Given the description of an element on the screen output the (x, y) to click on. 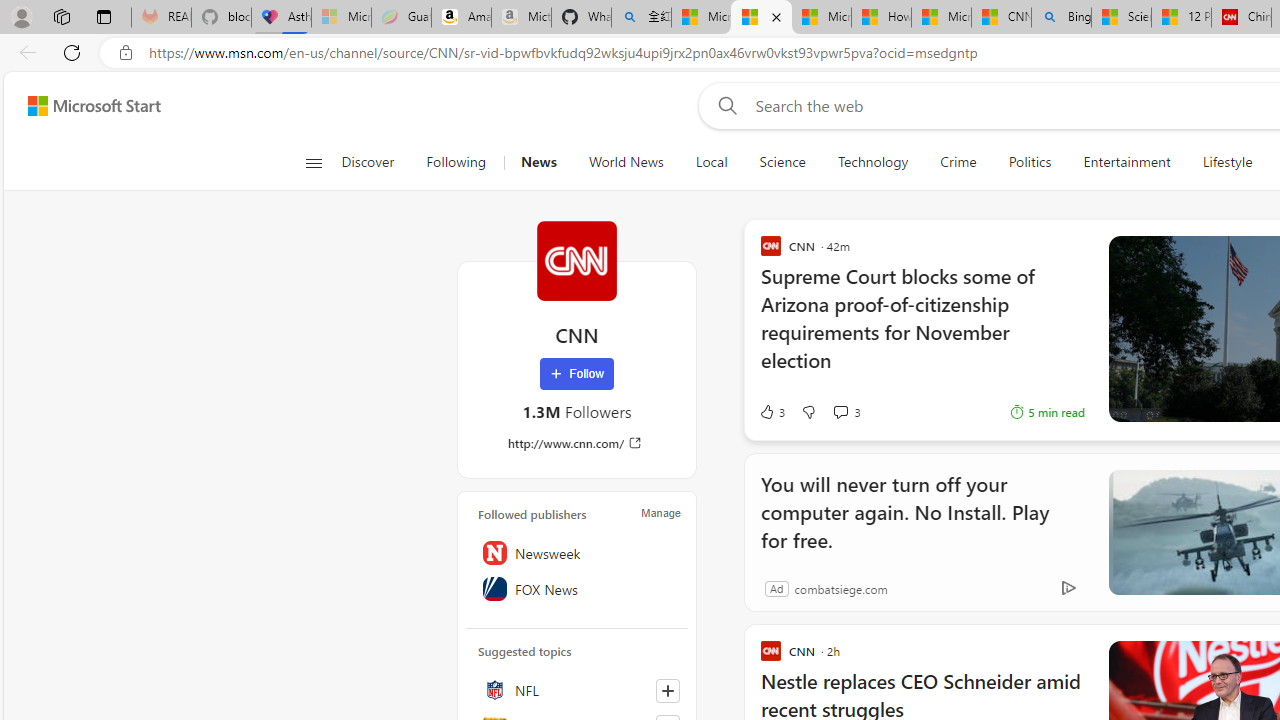
Bing (1060, 17)
Follow this topic (667, 690)
Skip to footer (82, 105)
How I Got Rid of Microsoft Edge's Unnecessary Features (881, 17)
Technology (872, 162)
FOX News (577, 588)
World News (625, 162)
Following (457, 162)
Crime (958, 162)
Local (711, 162)
Entertainment (1126, 162)
